Given the description of an element on the screen output the (x, y) to click on. 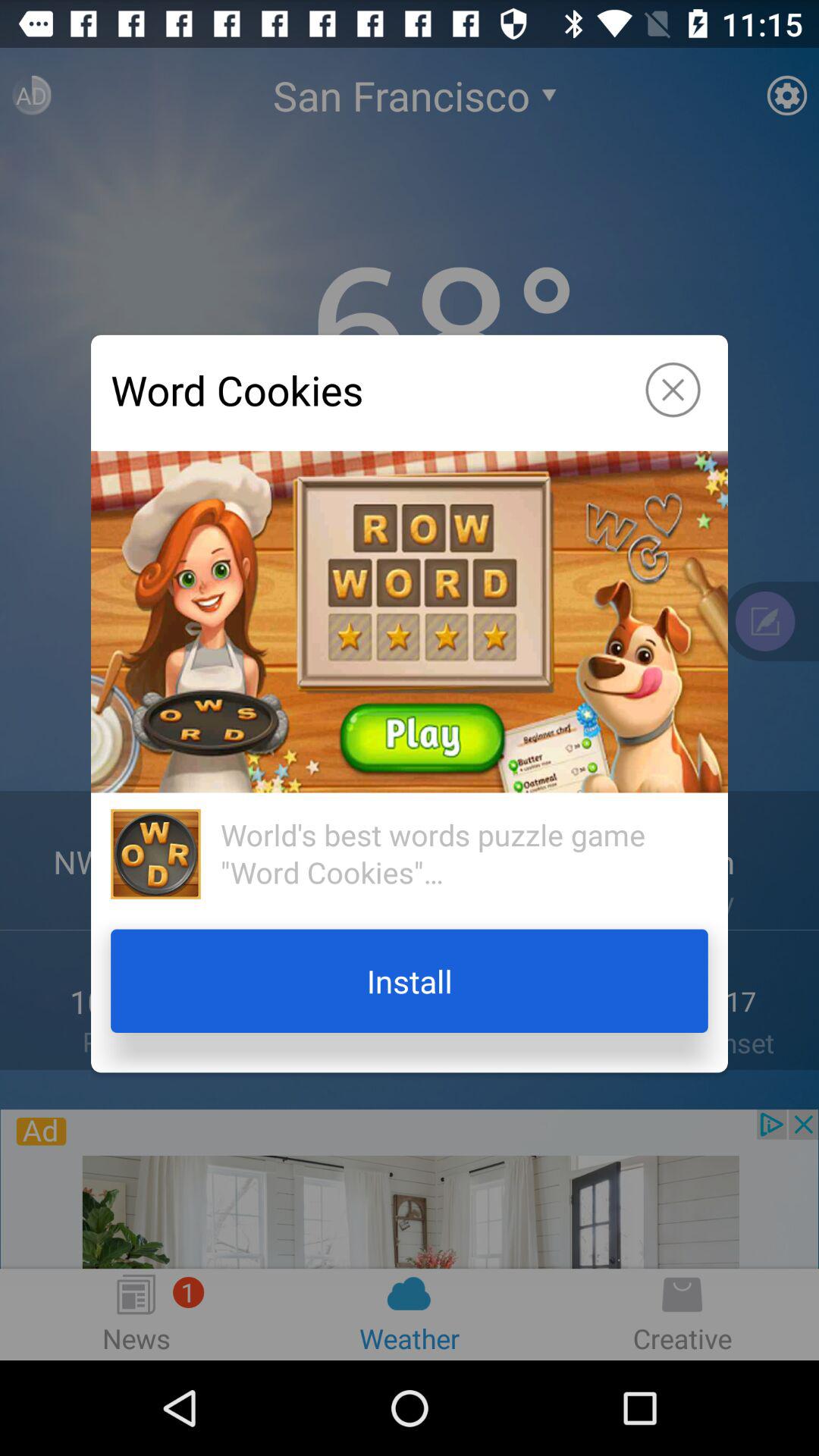
turn off the icon at the top right corner (673, 389)
